Given the description of an element on the screen output the (x, y) to click on. 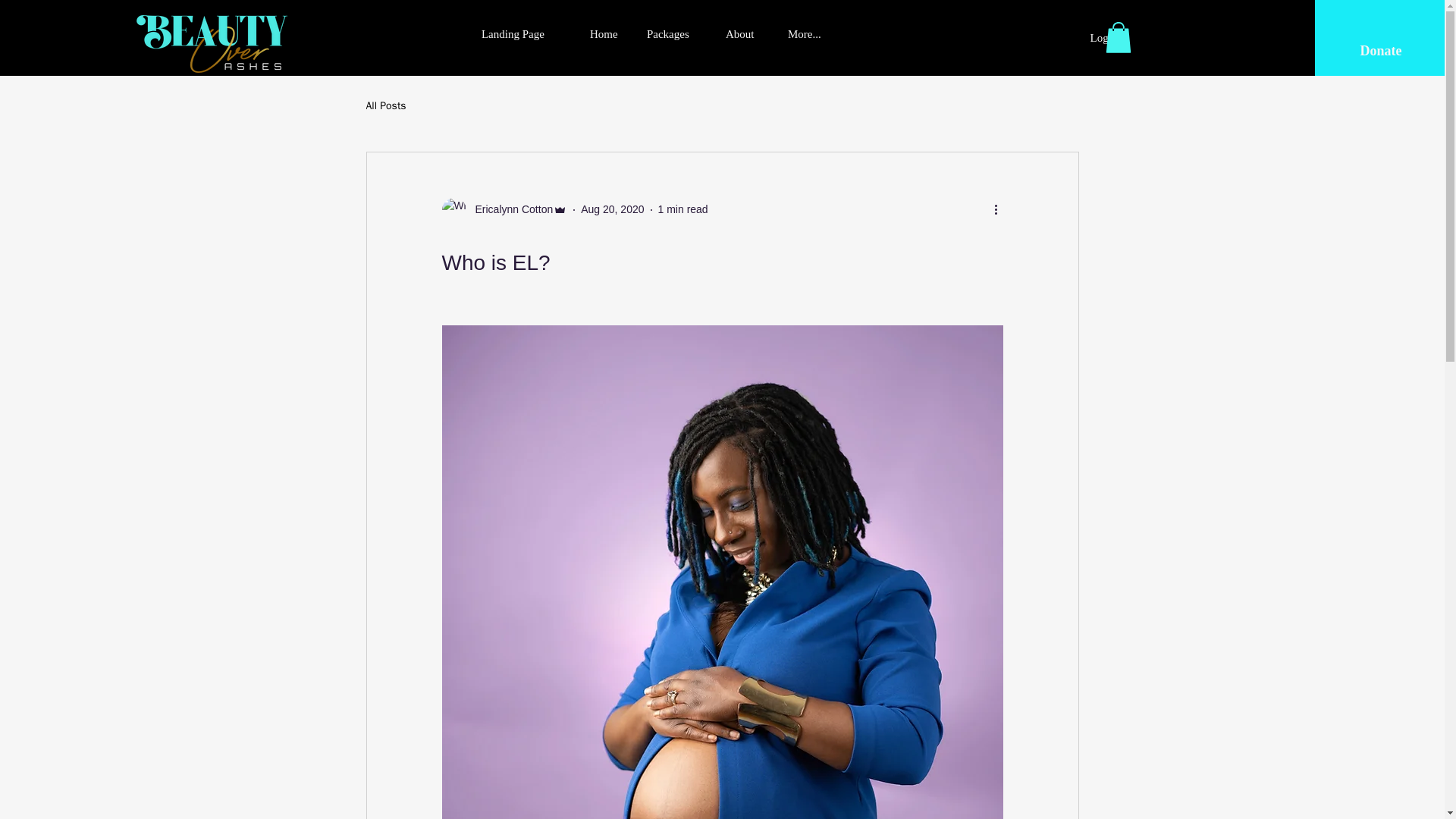
About (745, 33)
Ericalynn Cotton (504, 209)
Donate (1380, 51)
Landing Page (524, 33)
Home (606, 33)
Packages (674, 33)
Aug 20, 2020 (611, 209)
All Posts (385, 106)
Ericalynn Cotton (509, 209)
Log In (1104, 37)
1 min read (682, 209)
